Given the description of an element on the screen output the (x, y) to click on. 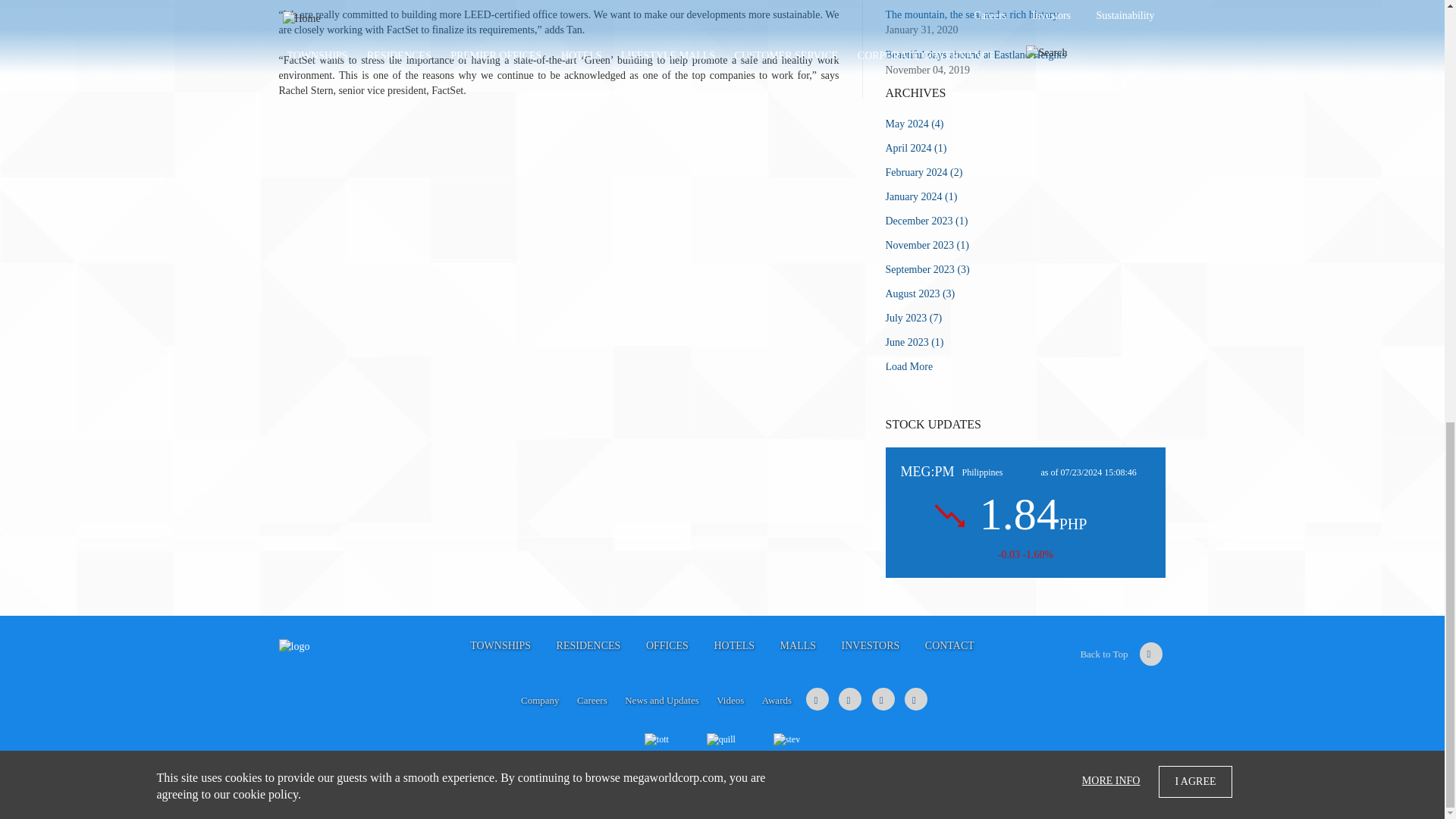
Go to next page (909, 366)
